Given the description of an element on the screen output the (x, y) to click on. 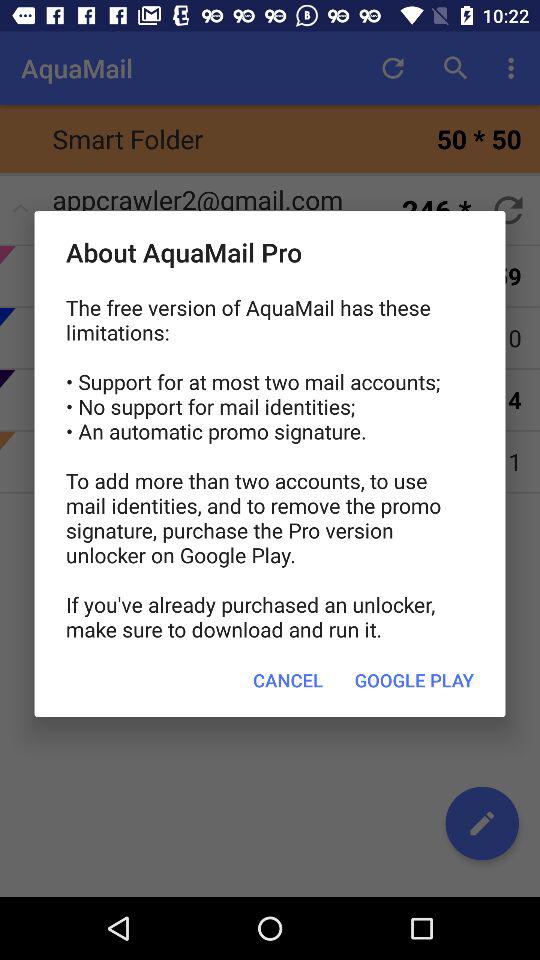
open icon below the free version (413, 679)
